Given the description of an element on the screen output the (x, y) to click on. 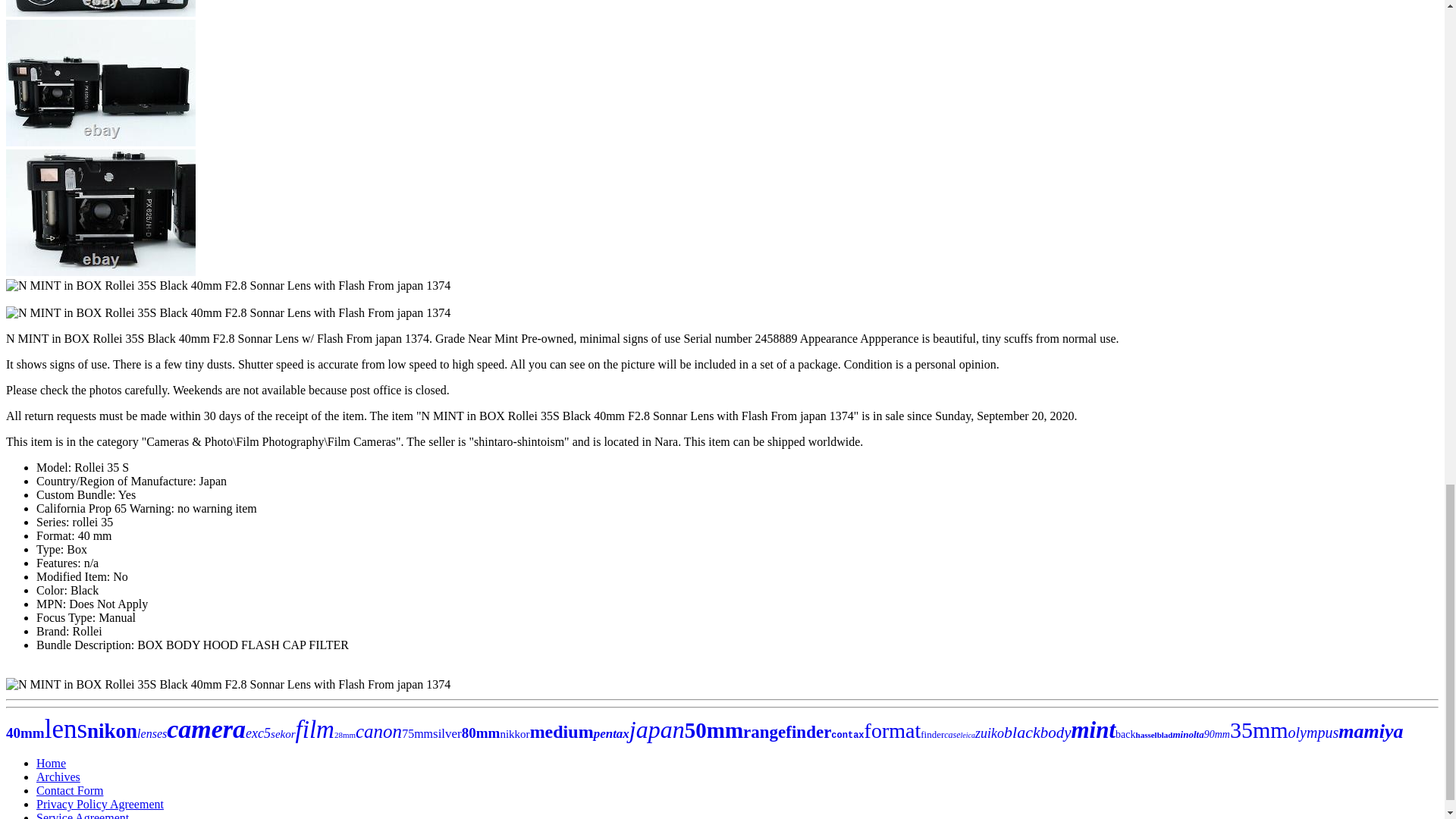
medium (561, 731)
28mm (344, 734)
black (1022, 732)
rangefinder (786, 732)
lenses (151, 733)
zuiko (989, 733)
pentax (611, 733)
format (892, 730)
finder (931, 734)
japan (656, 728)
40mm (25, 732)
film (314, 728)
canon (378, 731)
case (951, 734)
